Given the description of an element on the screen output the (x, y) to click on. 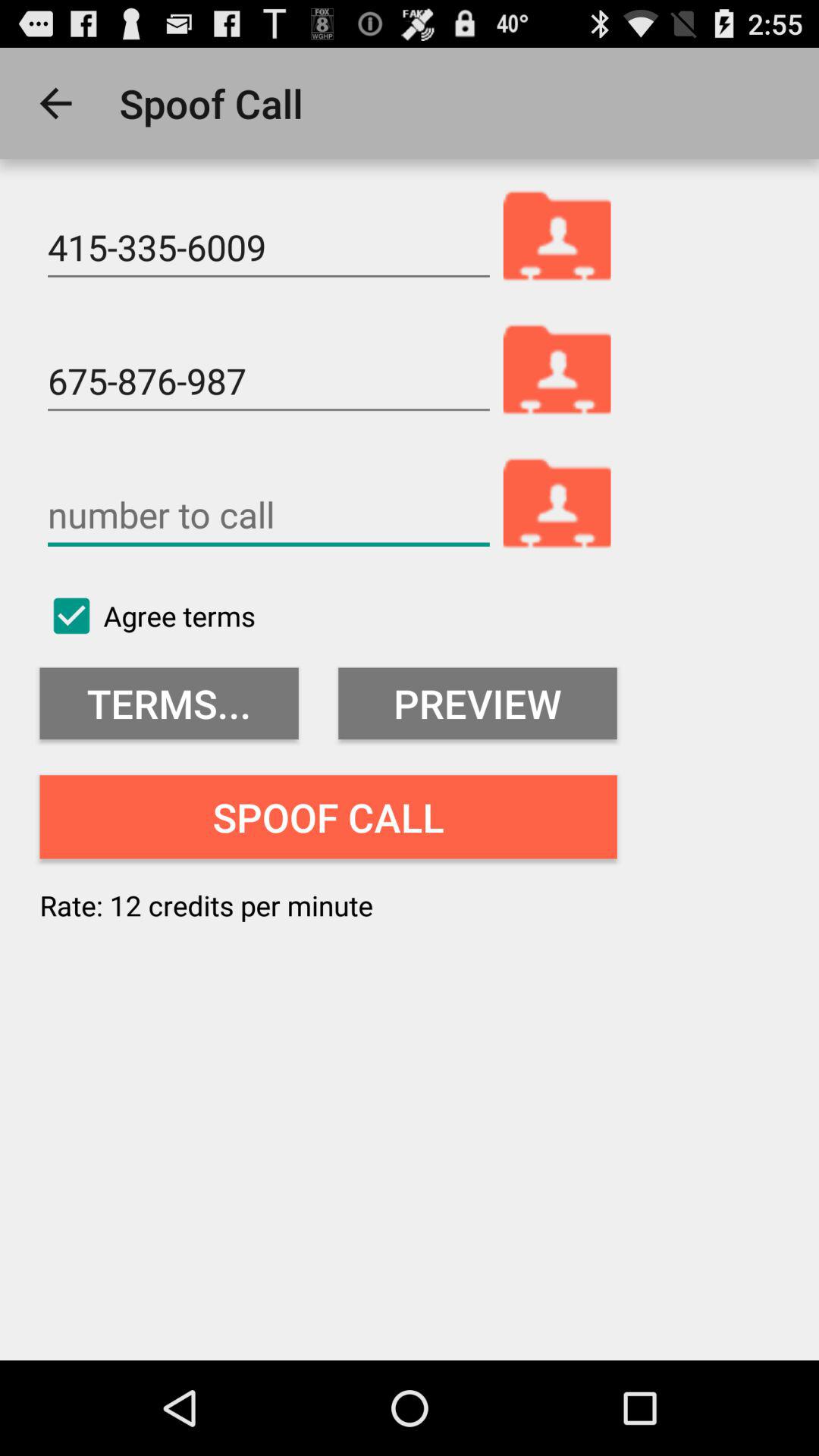
select terms... icon (168, 703)
